Given the description of an element on the screen output the (x, y) to click on. 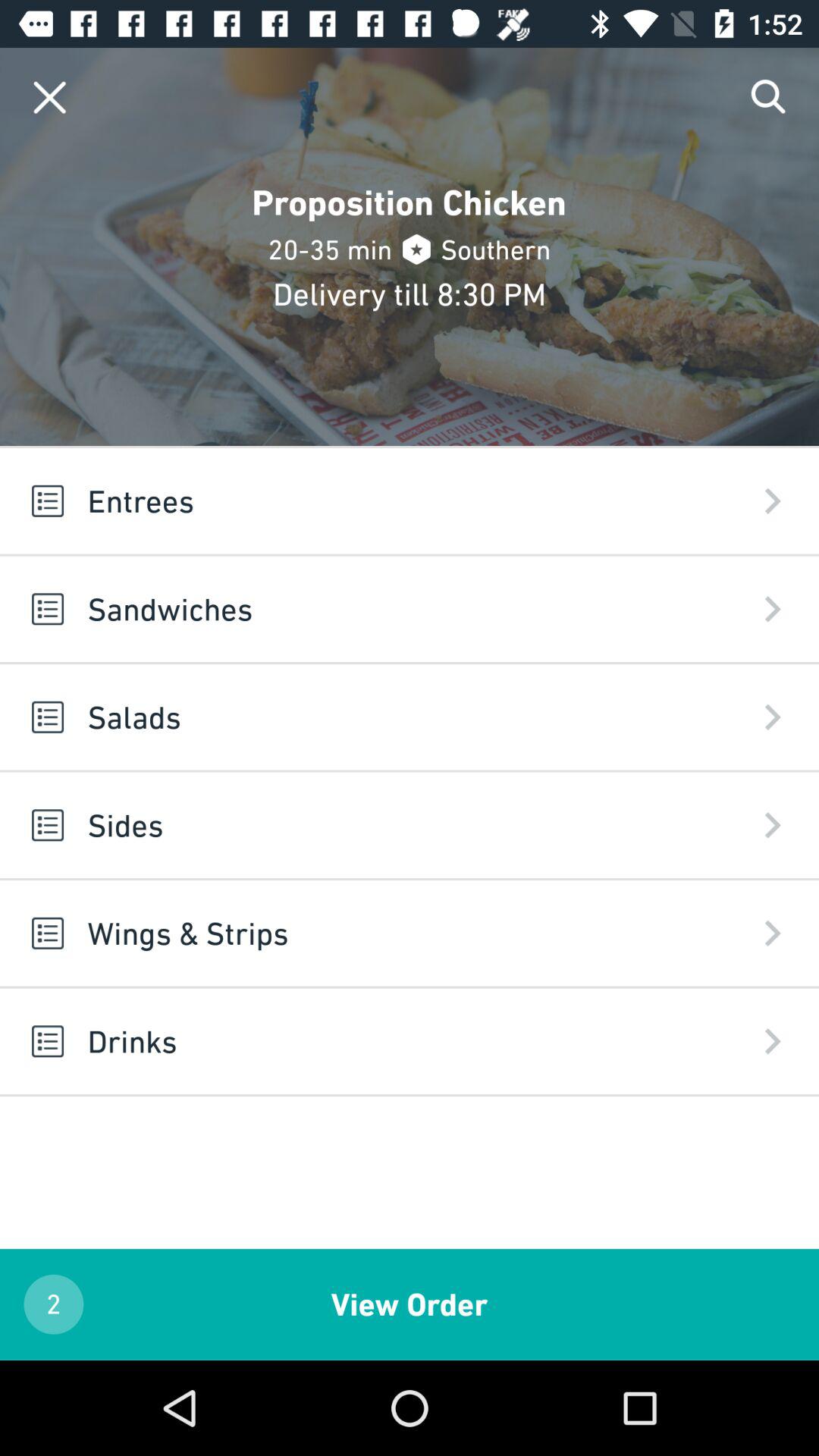
press icon above the entrees item (49, 97)
